Given the description of an element on the screen output the (x, y) to click on. 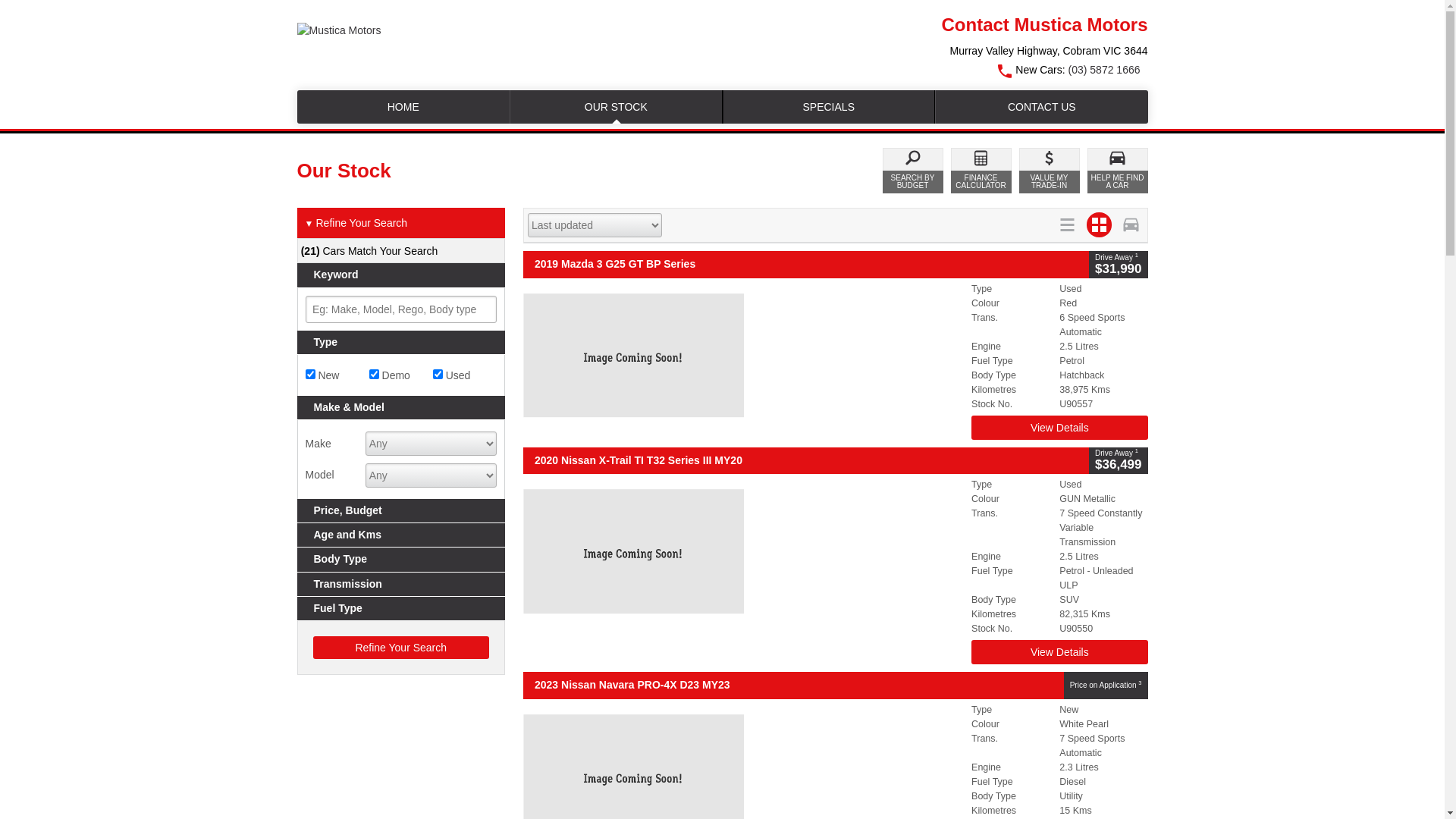
(03) 5872 1666 Element type: text (1104, 69)
HELP ME FIND A CAR Element type: text (1117, 170)
HOME Element type: text (403, 106)
Age and Kms Element type: text (401, 534)
Fuel Type Element type: text (401, 608)
Refine Your Search Element type: text (400, 647)
CONTACT US Element type: text (1041, 106)
View Details Element type: text (1059, 427)
SEARCH BY BUDGET Element type: text (912, 170)
Transmission Element type: text (401, 584)
Price, Budget Element type: text (401, 510)
Type Element type: text (401, 342)
Make & Model Element type: text (401, 407)
Price on Application 3 Element type: text (1105, 684)
Drive Away 1
$31,990 Element type: text (1117, 264)
2020 Nissan X-TRAIL Element type: hover (743, 550)
Body Type Element type: text (401, 559)
2019 Mazda 3 G25 GT BP Series Element type: text (805, 264)
2020 Nissan X-Trail TI T32 Series III MY20 Element type: text (805, 460)
FINANCE CALCULATOR Element type: text (980, 170)
OUR STOCK Element type: text (615, 106)
2023 Nissan Navara PRO-4X D23 MY23 Element type: text (793, 684)
Drive Away 1
$36,499 Element type: text (1117, 460)
SPECIALS Element type: text (829, 106)
VALUE MY TRADE-IN Element type: text (1049, 170)
Keyword Element type: text (401, 274)
2019 Mazda 3 Element type: hover (743, 355)
View Details Element type: text (1059, 652)
